Given the description of an element on the screen output the (x, y) to click on. 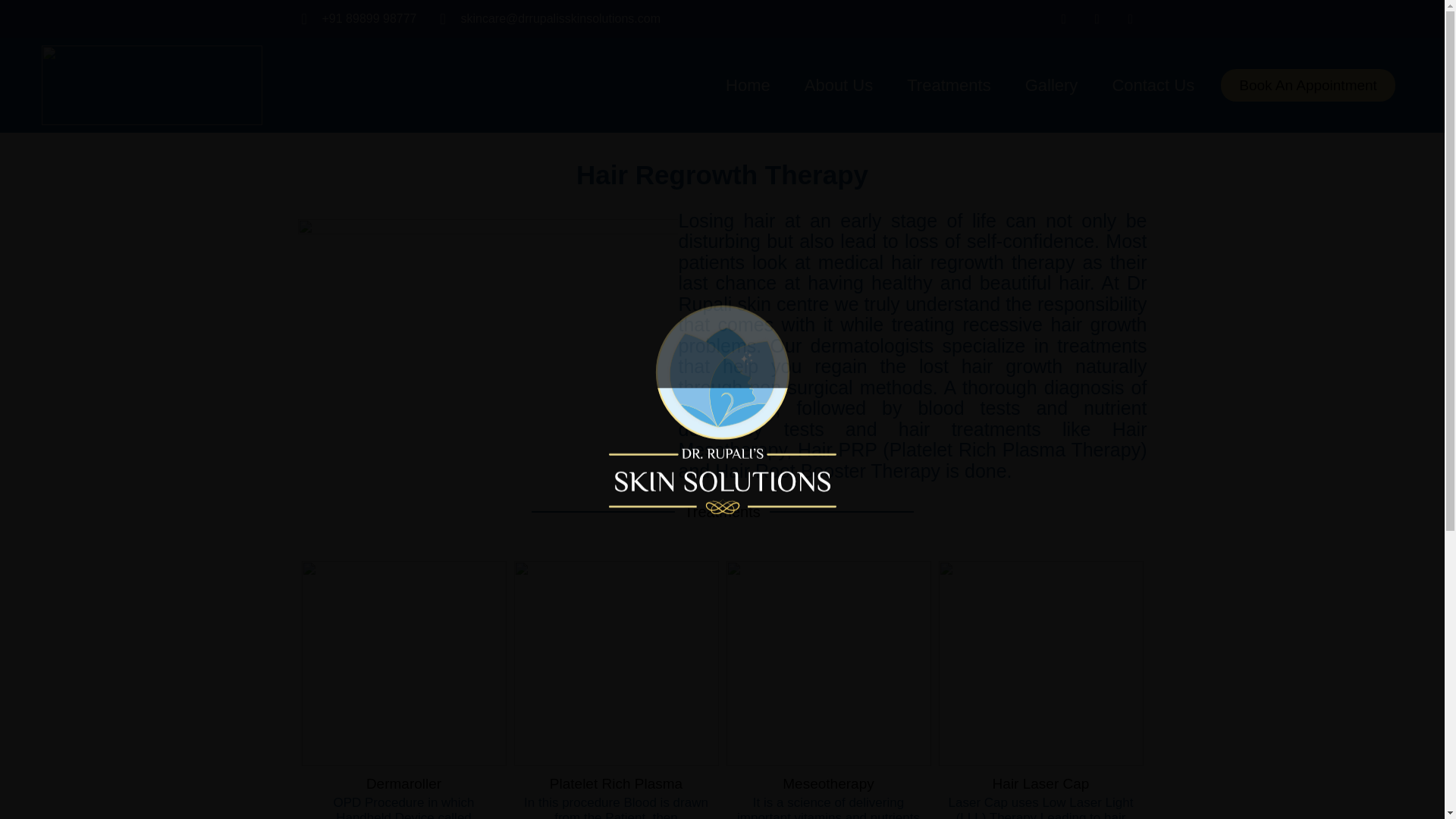
Treatments (948, 85)
Contact Us (1152, 85)
Gallery (1051, 85)
About Us (838, 85)
Book An Appointment (1307, 84)
Home (748, 85)
